Given the description of an element on the screen output the (x, y) to click on. 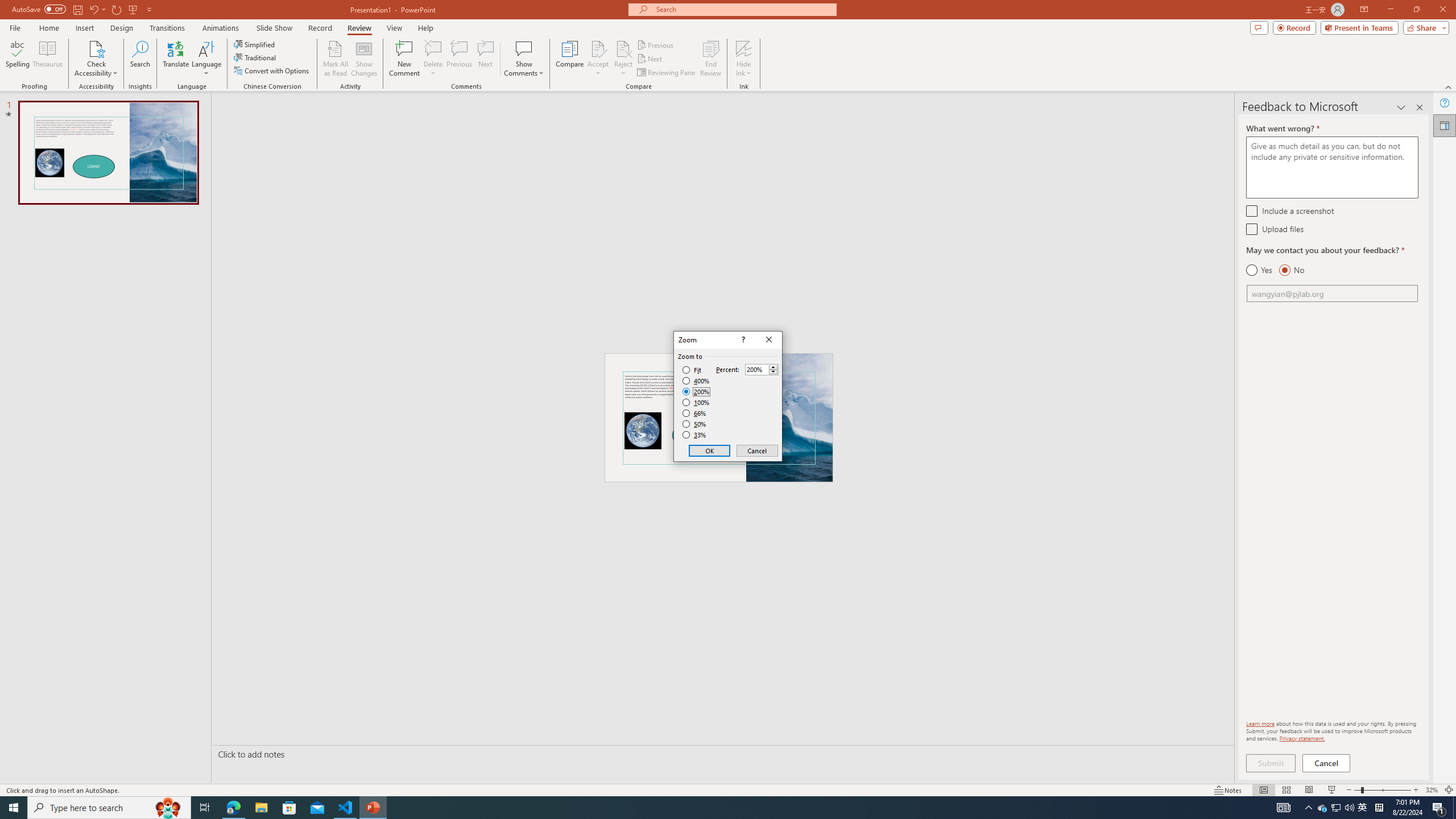
Fit (691, 370)
